Given the description of an element on the screen output the (x, y) to click on. 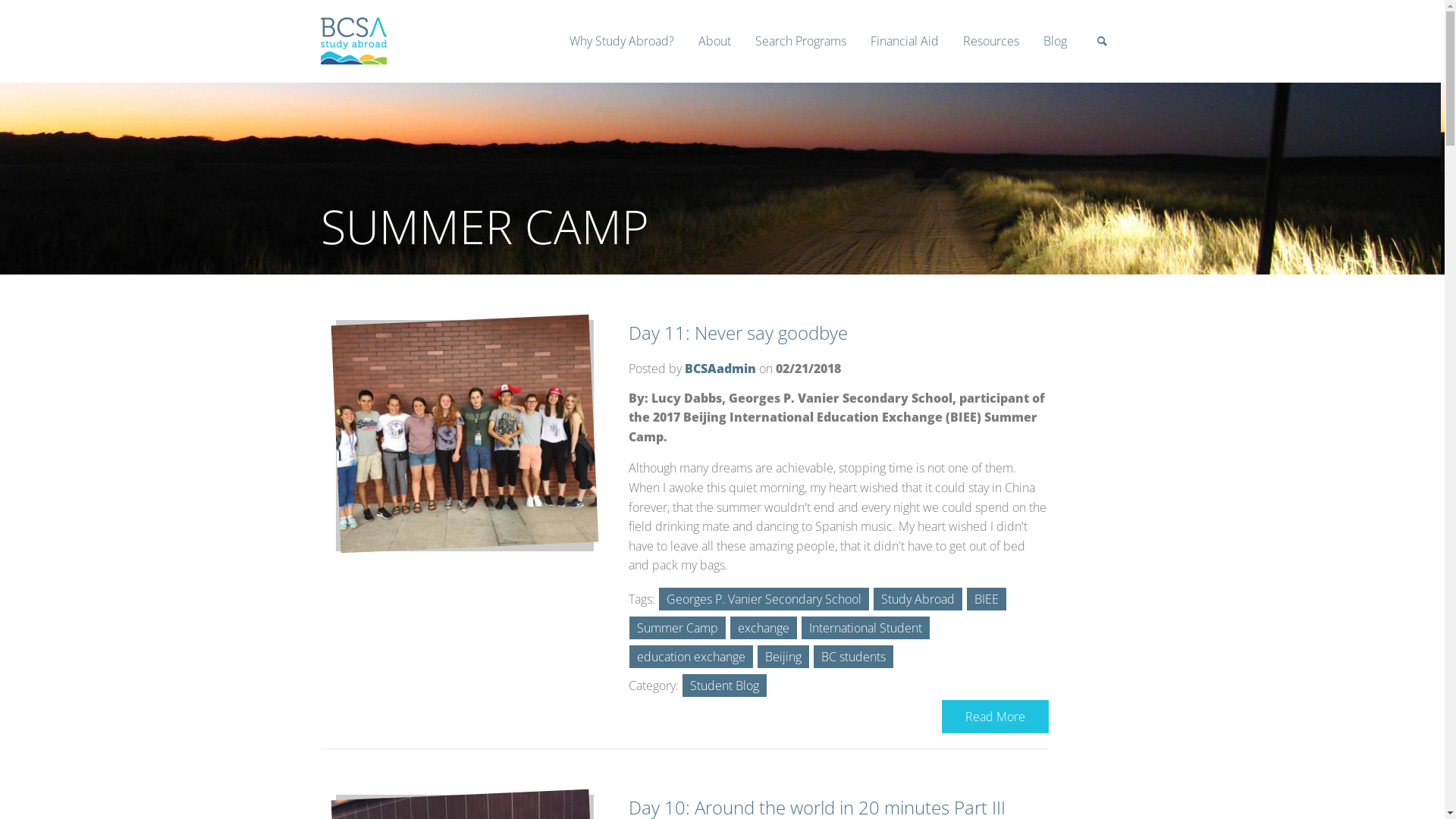
Search Programs Element type: text (800, 40)
Skip to main content Element type: text (55, 9)
Georges P. Vanier Secondary School Element type: text (763, 598)
Read More Element type: text (994, 716)
Scholarships and Awards Element type: text (971, 84)
BC students Element type: text (853, 656)
Study Abroad Element type: text (917, 598)
About Element type: text (713, 40)
BIEE Element type: text (986, 598)
<i class="icon-search"></i> Element type: hover (1101, 45)
BCSAadmin Element type: text (720, 368)
Financial Aid Element type: text (904, 40)
exchange Element type: text (763, 627)
Why Study Abroad? Element type: text (621, 40)
Blog Element type: text (1054, 40)
Resources Element type: text (990, 40)
Home Element type: hover (352, 59)
Day 11: Never say goodbye Element type: text (737, 332)
Summer Camp Element type: text (677, 627)
International Student Element type: text (865, 627)
Helpful Websites and Travel Guides Element type: text (1064, 84)
education exchange Element type: text (691, 656)
Student Blog Element type: text (724, 685)
Writers in Residence Element type: text (1144, 84)
Beijing Element type: text (783, 656)
What is BCSA? Element type: text (800, 84)
